Given the description of an element on the screen output the (x, y) to click on. 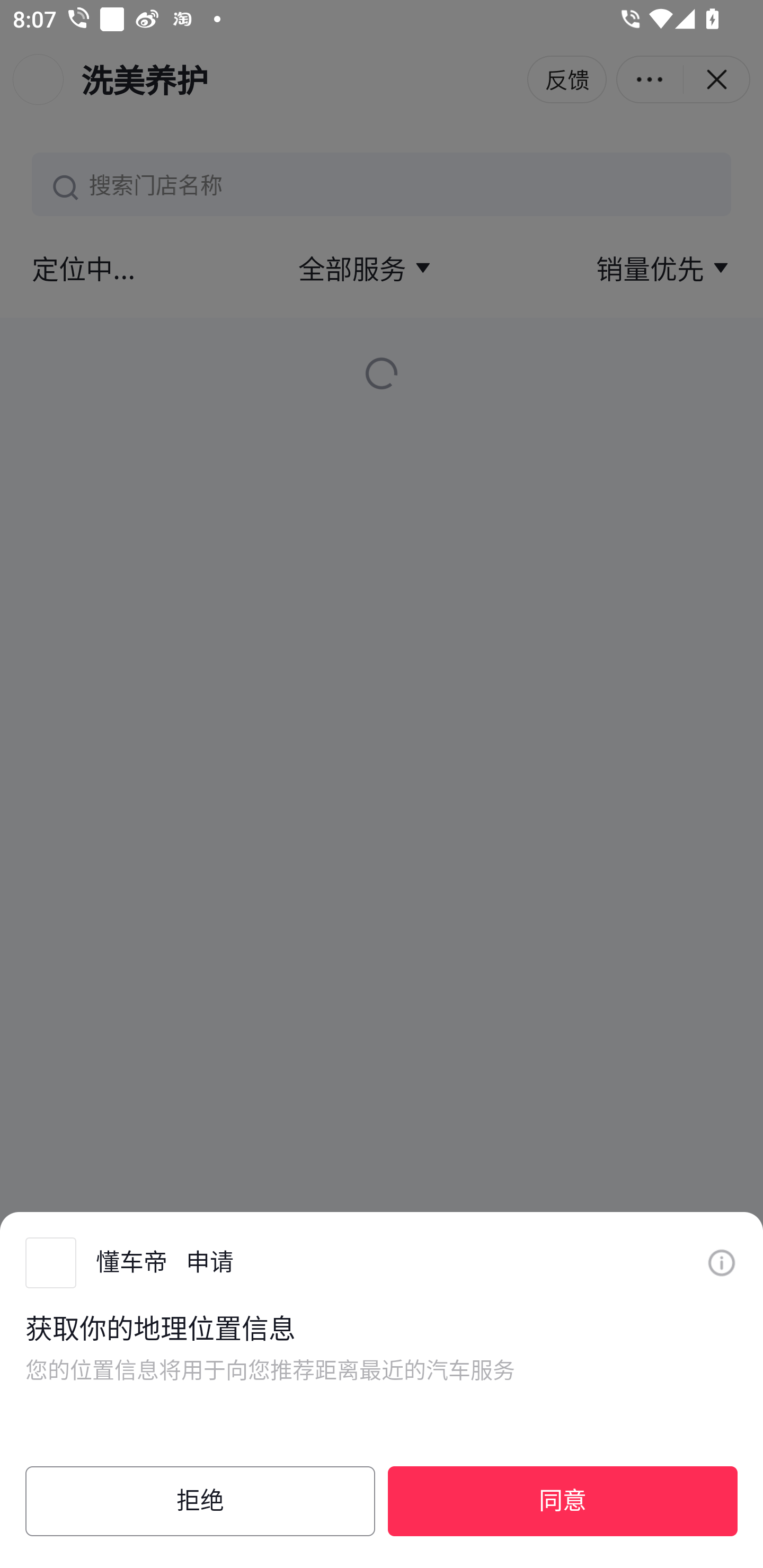
拒绝 (200, 1501)
同意 (562, 1501)
